Given the description of an element on the screen output the (x, y) to click on. 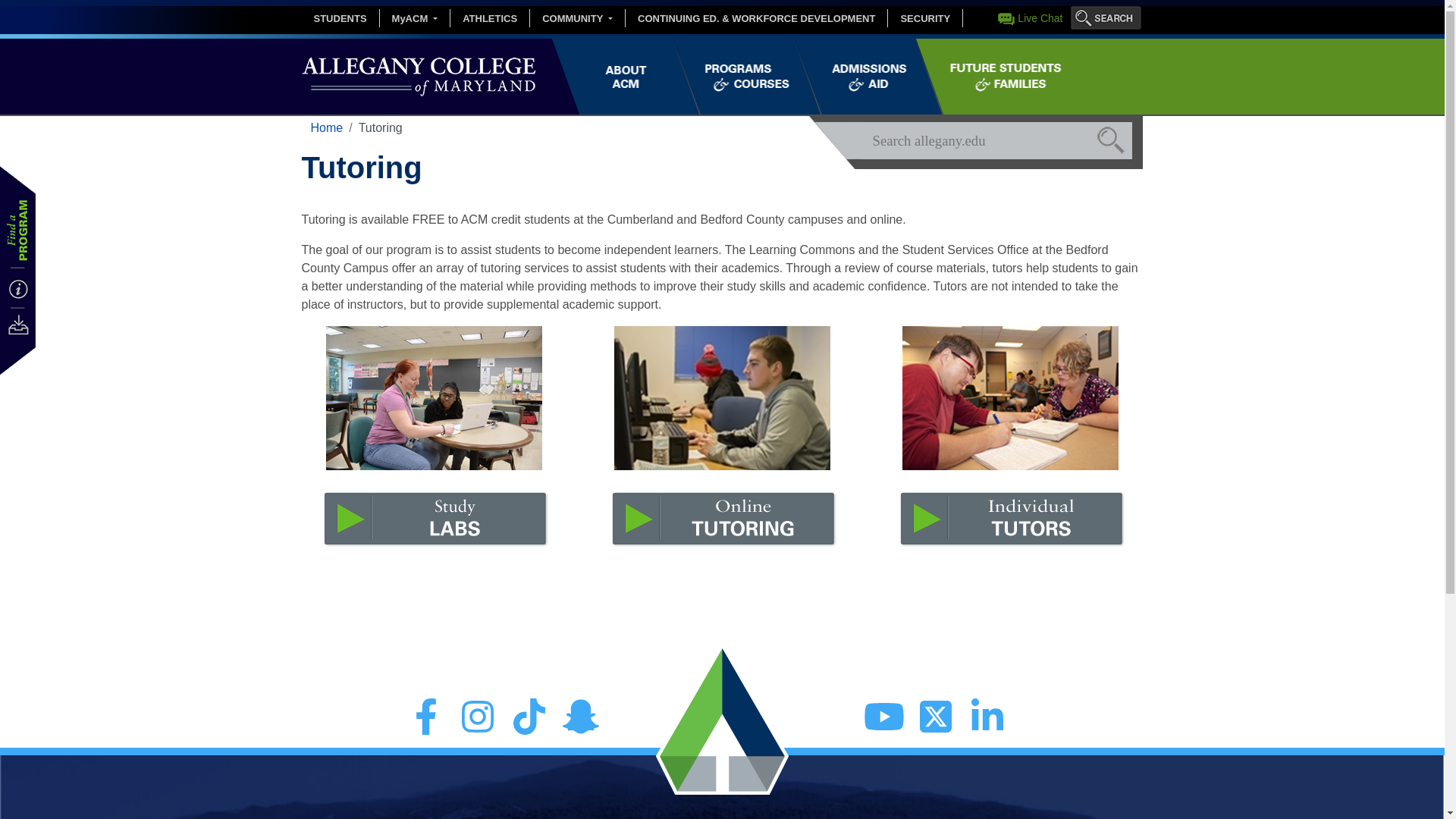
Live Chat (1039, 18)
Live Chat (1039, 18)
ATHLETICS (489, 17)
SECURITY (925, 17)
ACM Site Search (1104, 17)
Allegany College of Maryland (418, 75)
STUDENTS (339, 17)
COMMUNITY (576, 17)
MyACM (414, 17)
